Given the description of an element on the screen output the (x, y) to click on. 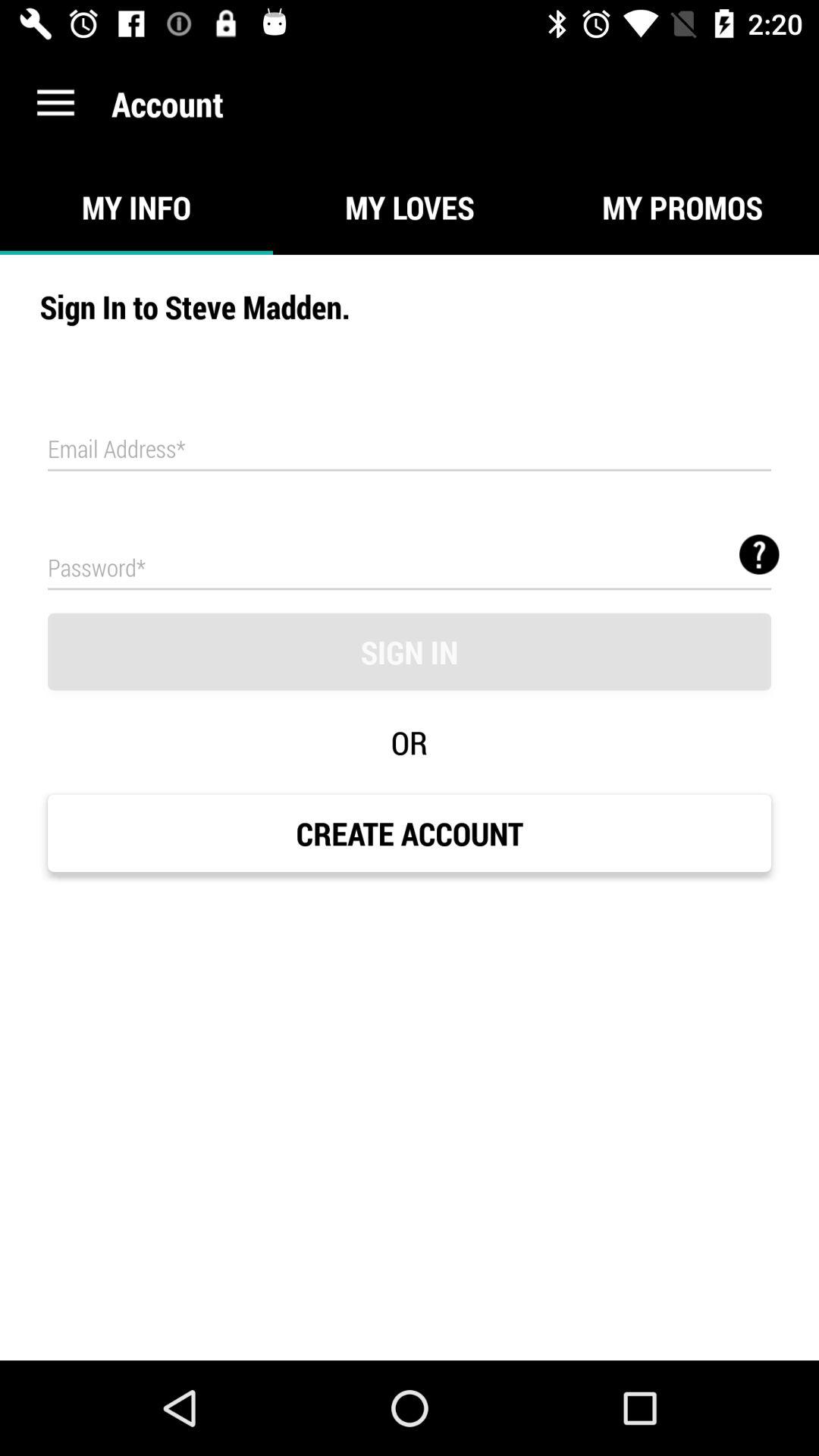
criteria for choosing password (759, 554)
